Given the description of an element on the screen output the (x, y) to click on. 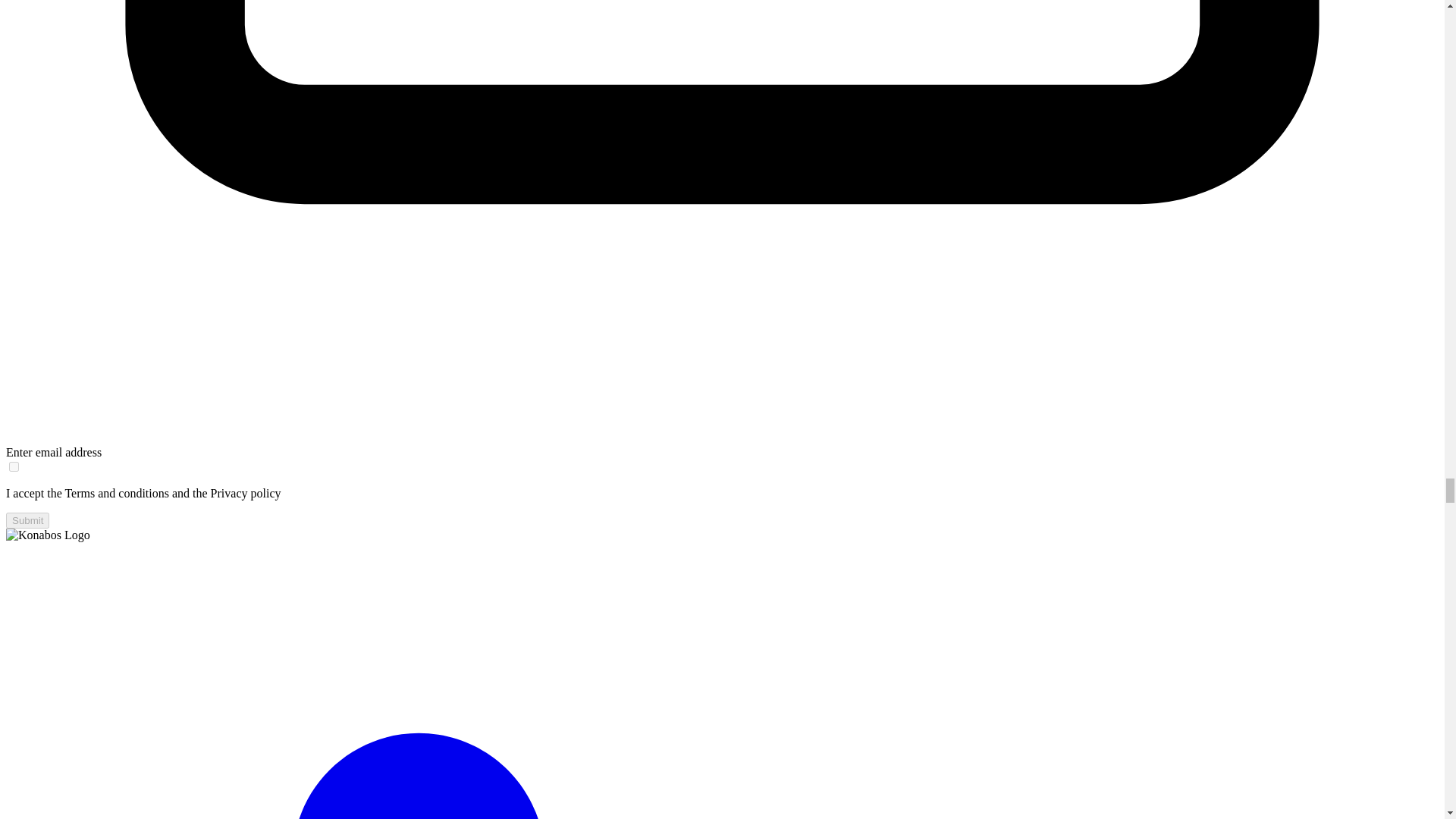
Submit (27, 520)
on (13, 466)
Konabos Logo (47, 535)
